Given the description of an element on the screen output the (x, y) to click on. 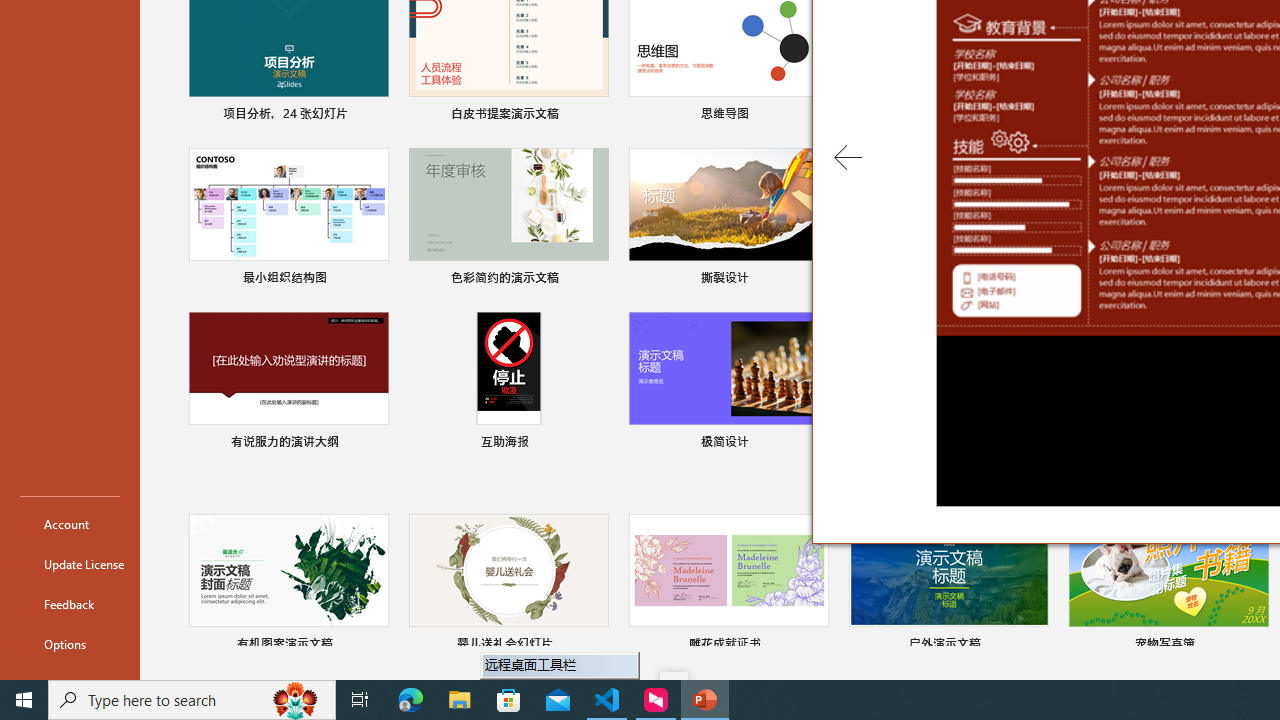
PowerPoint - 1 running window (704, 699)
Microsoft Edge (411, 699)
Search highlights icon opens search home window (295, 699)
File Explorer (460, 699)
Start (24, 699)
Options (69, 643)
Task View (359, 699)
Type here to search (191, 699)
Account (69, 523)
Update License (69, 563)
